Given the description of an element on the screen output the (x, y) to click on. 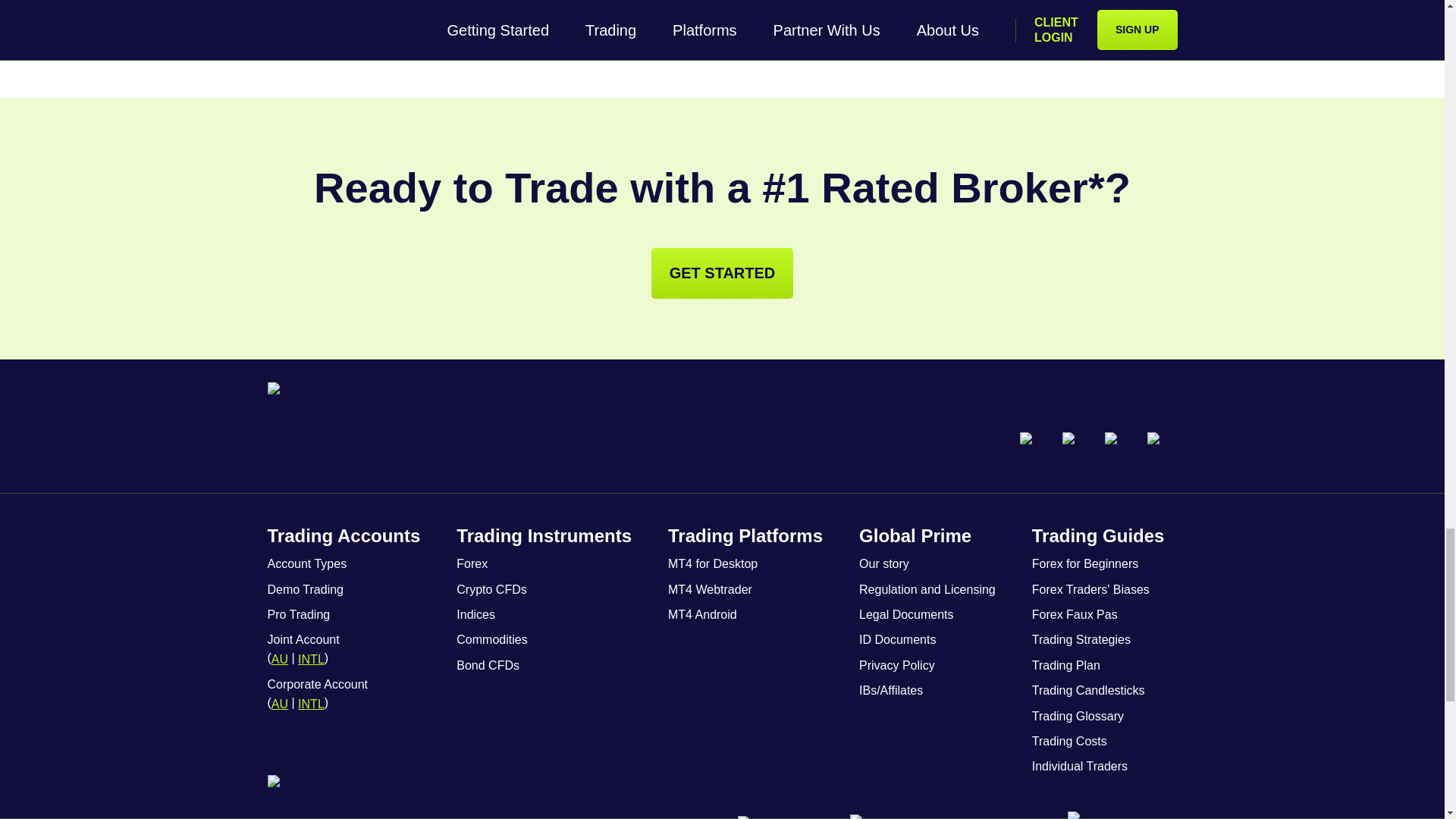
Account Types (306, 562)
Our story (883, 562)
Privacy Policy (896, 664)
MT4 for Desktop (712, 562)
Pro Trading (298, 613)
Indices (476, 613)
MT4 Android (702, 613)
Forex (472, 562)
Crypto CFDs (491, 588)
AU (279, 702)
Forex Traders' Biases (1091, 588)
INTL (311, 702)
Commodities (492, 638)
Legal Documents (906, 613)
Regulation and Licensing (927, 588)
